Given the description of an element on the screen output the (x, y) to click on. 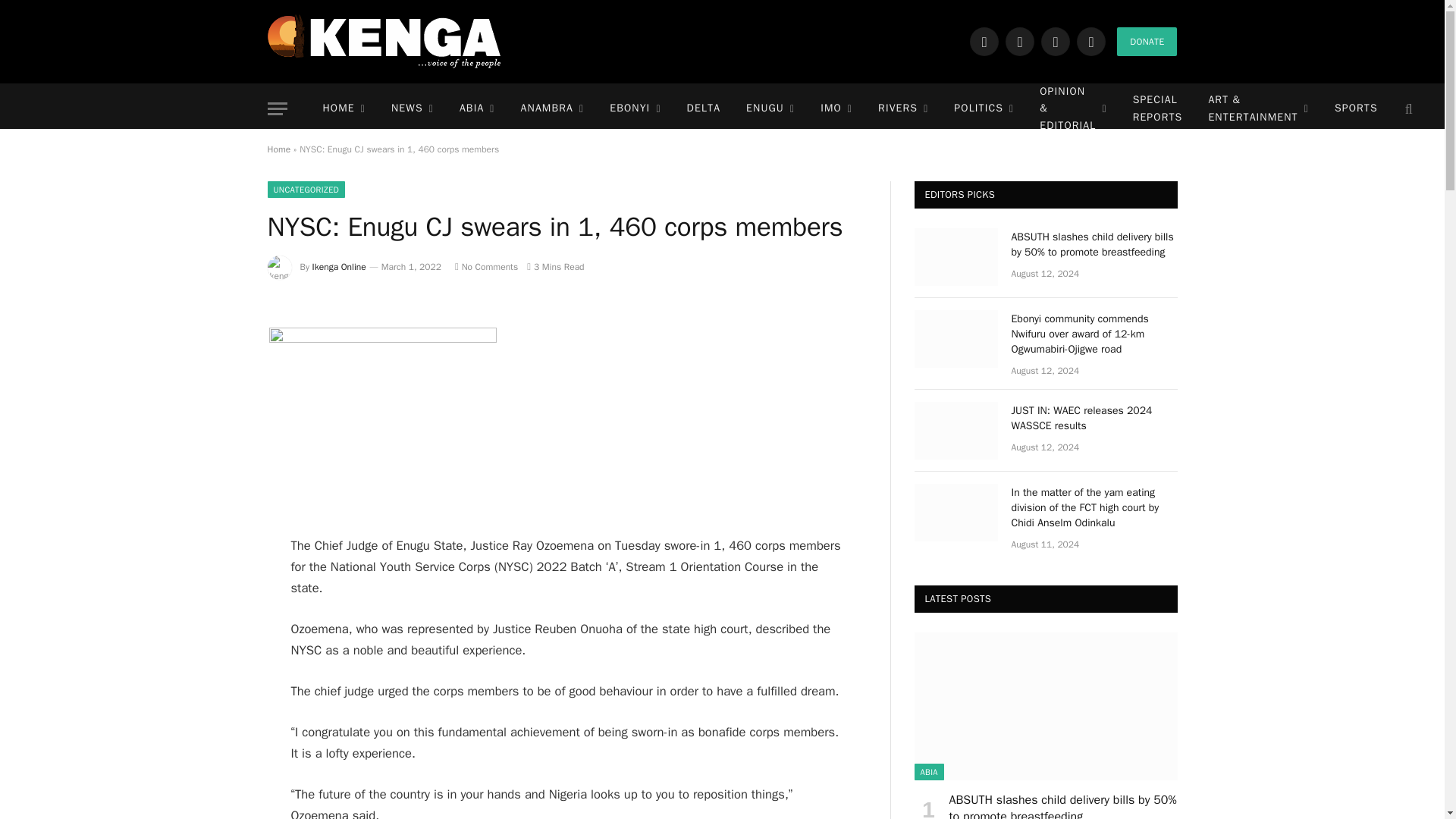
YouTube (1091, 41)
NEWS (412, 108)
Instagram (1055, 41)
DONATE (1146, 41)
Facebook (983, 41)
Ikenga Online (383, 41)
Twitter (1019, 41)
HOME (342, 108)
